Given the description of an element on the screen output the (x, y) to click on. 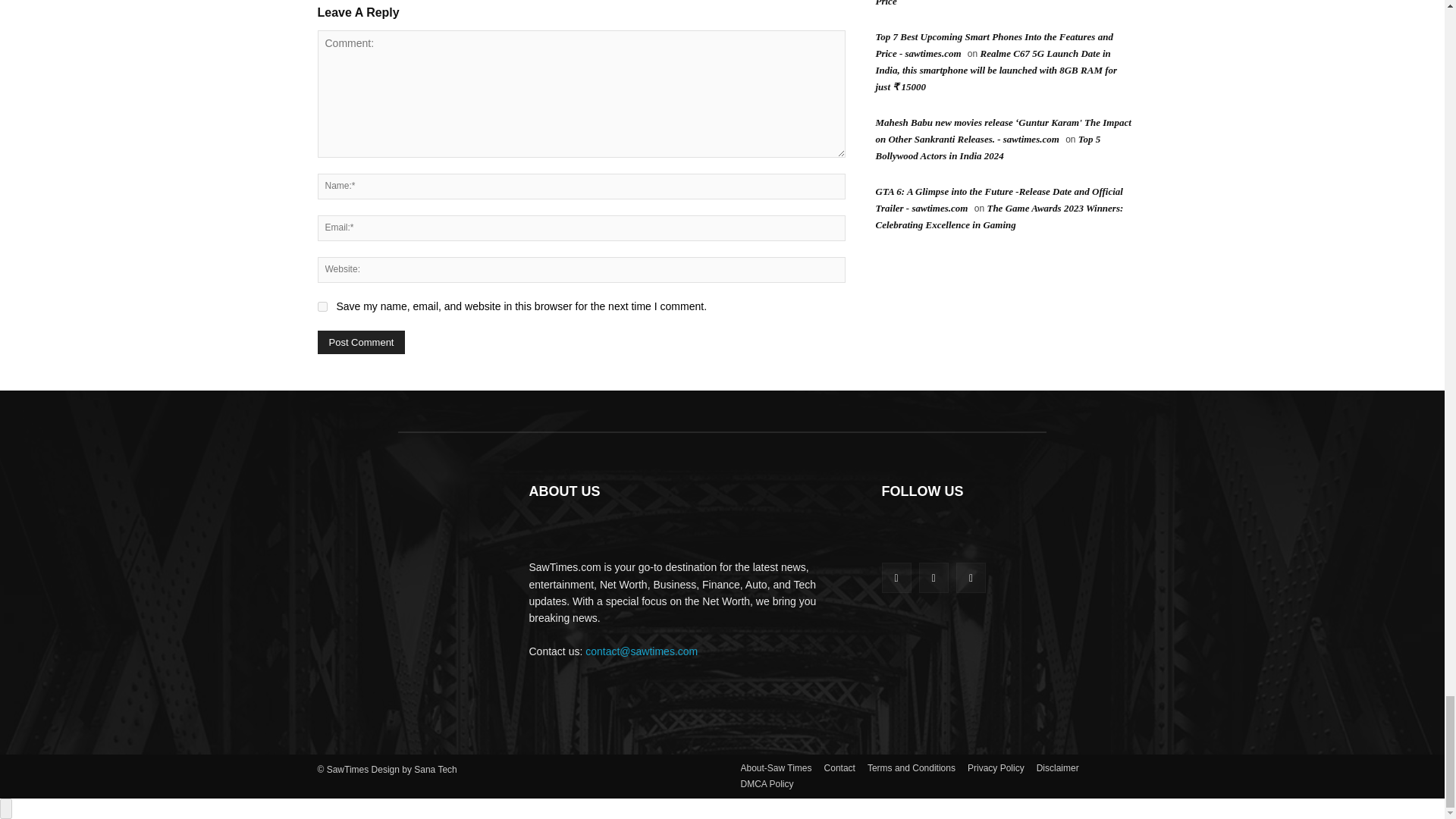
yes (321, 307)
Post Comment (360, 341)
